Given the description of an element on the screen output the (x, y) to click on. 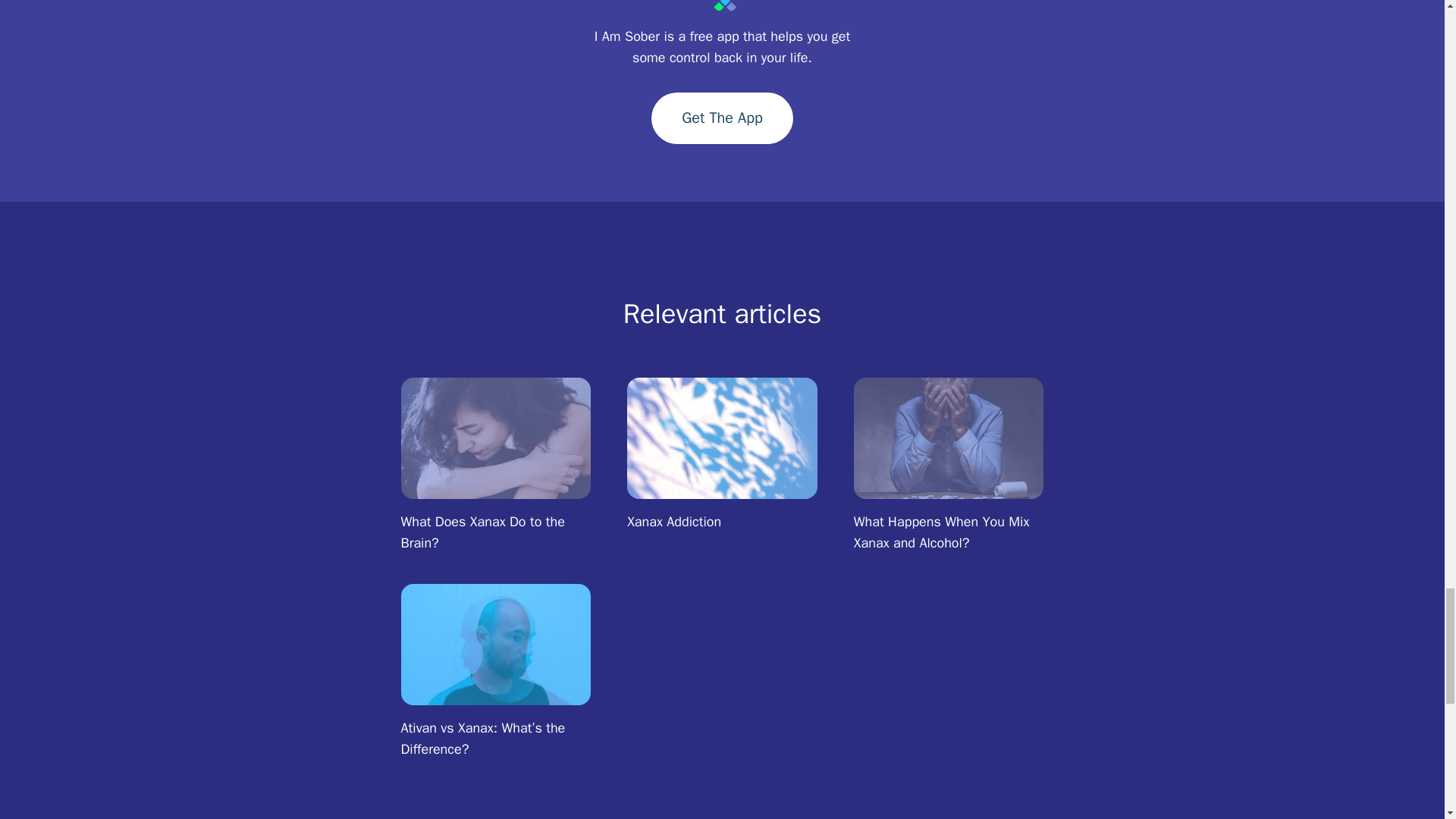
What Happens When You Mix Xanax and Alcohol? (948, 468)
Get The App (721, 118)
What Happens When You Mix Xanax and Alcohol?  (948, 437)
What Does Xanax Do to the Brain? (495, 437)
What Does Xanax Do to the Brain? (494, 468)
Xanax Addiction (721, 437)
Xanax Addiction (721, 468)
